Given the description of an element on the screen output the (x, y) to click on. 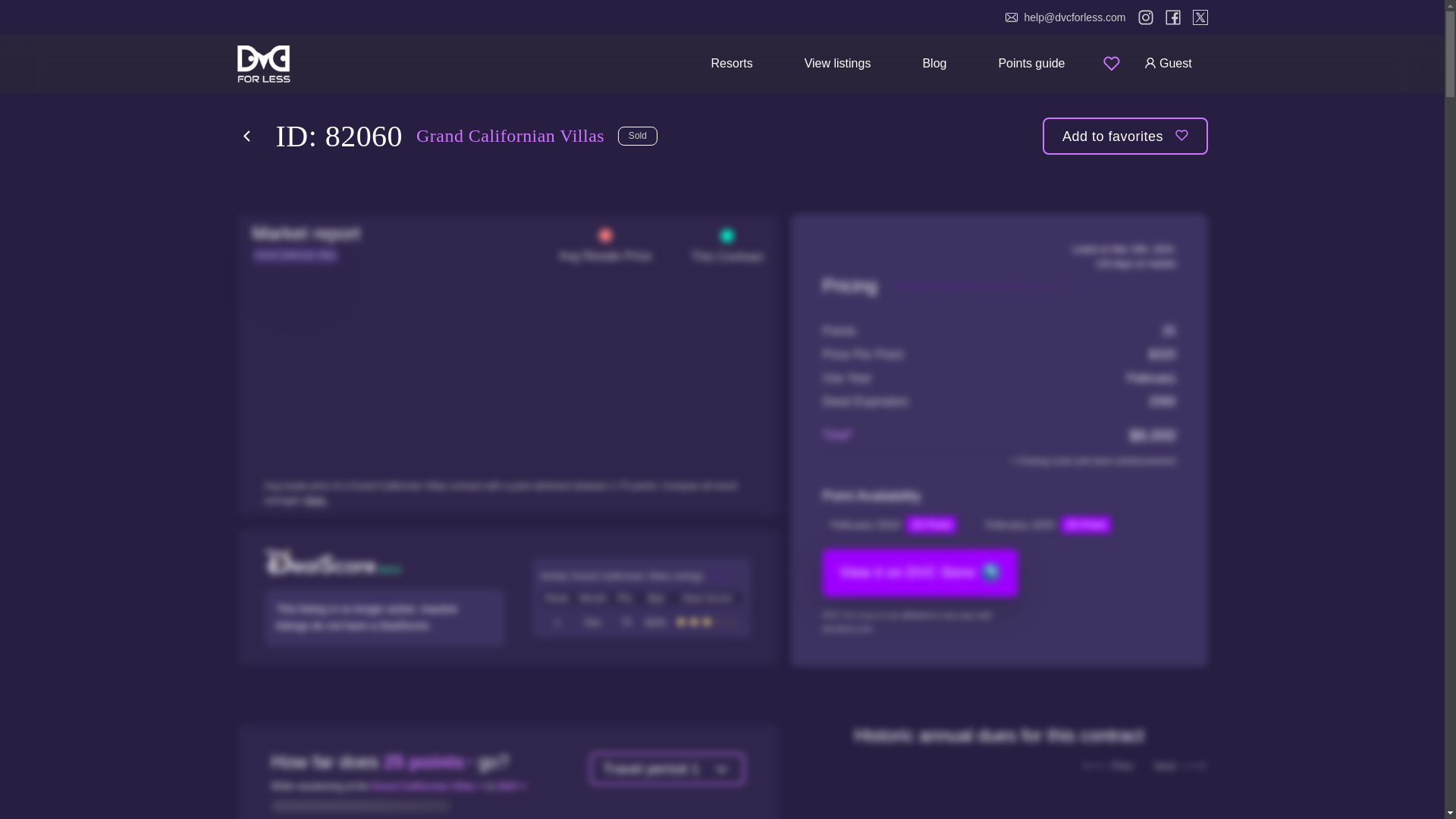
ID: 82536 Grand Californian Villas (640, 621)
View it on DVC Store (919, 572)
View listings (837, 62)
back to listings (245, 135)
instagram (1145, 17)
here. (315, 500)
Travel period 1 (666, 768)
Add to favorites (1125, 135)
facebook (1171, 17)
Points guide (1031, 62)
Blog (934, 62)
Resorts (731, 62)
Prev (1110, 765)
Sold (637, 135)
Next (1177, 765)
